Given the description of an element on the screen output the (x, y) to click on. 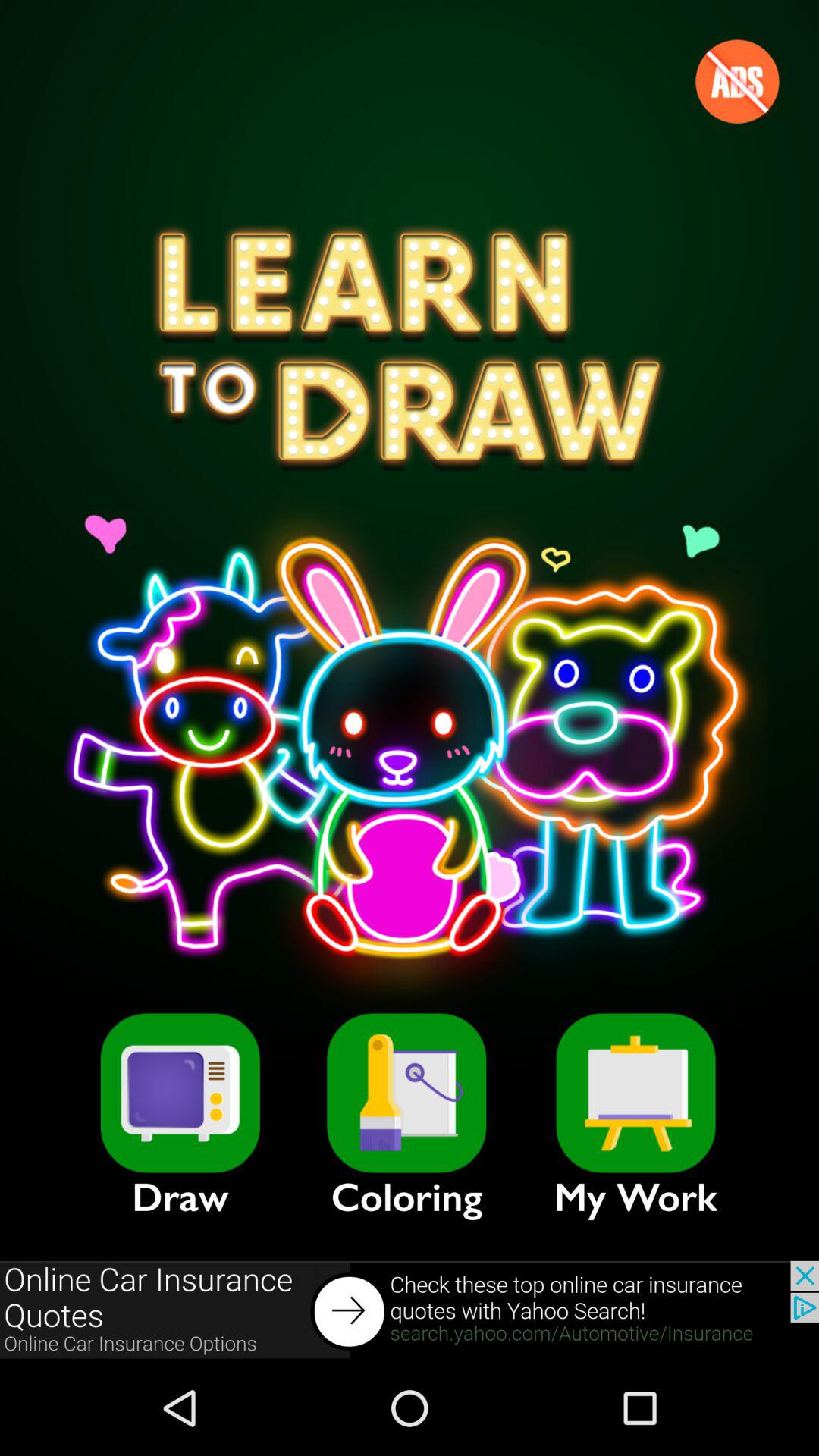
link to an advertisement (409, 1310)
